Given the description of an element on the screen output the (x, y) to click on. 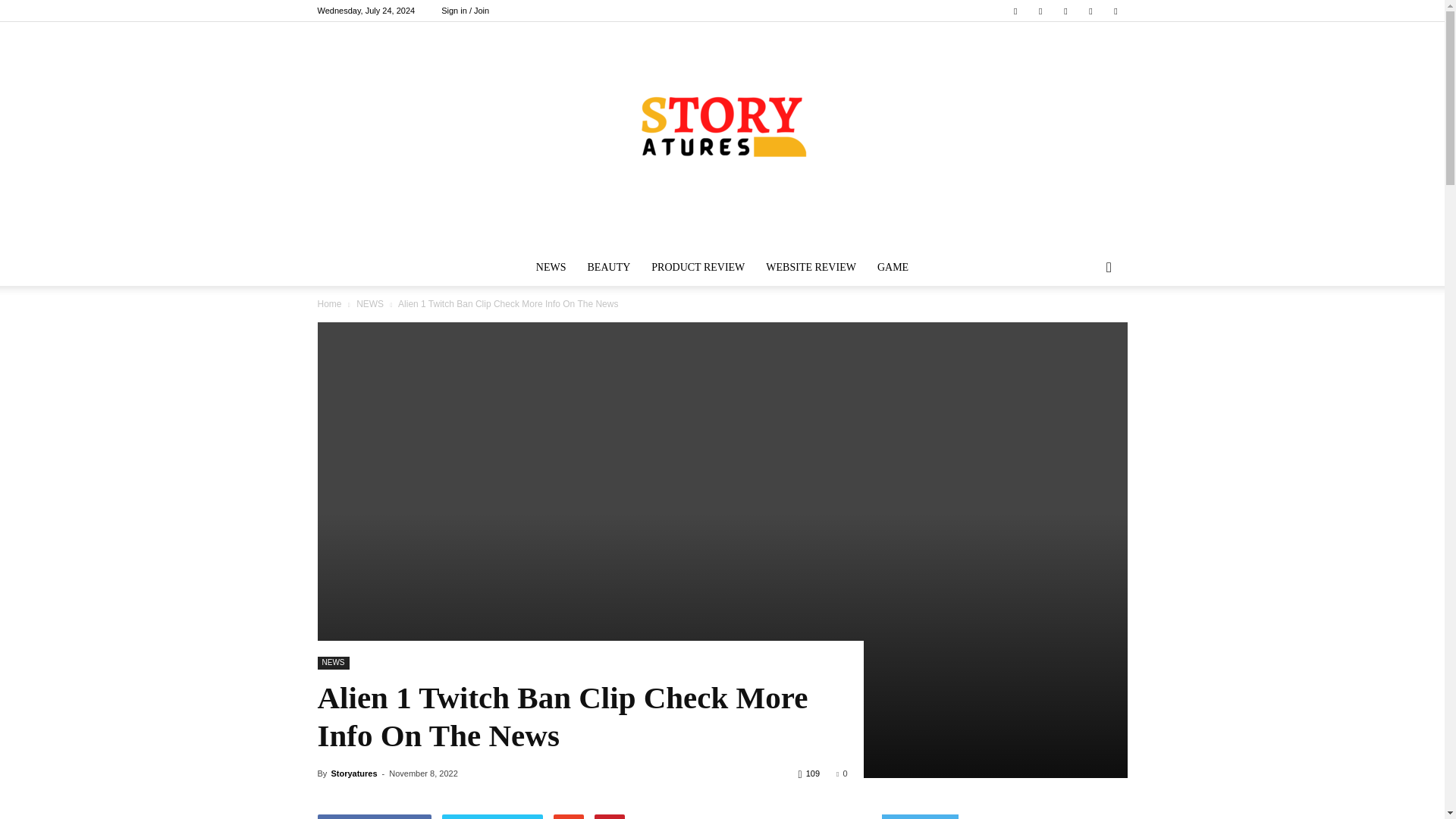
Search (1085, 328)
WEBSITE REVIEW (810, 267)
GAME (892, 267)
View all posts in NEWS (370, 303)
Facebook (1015, 10)
Home (328, 303)
Youtube (1114, 10)
NEWS (370, 303)
PRODUCT REVIEW (697, 267)
VKontakte (1090, 10)
BEAUTY (609, 267)
NEWS (550, 267)
Vimeo (1065, 10)
Twitter (1040, 10)
